Given the description of an element on the screen output the (x, y) to click on. 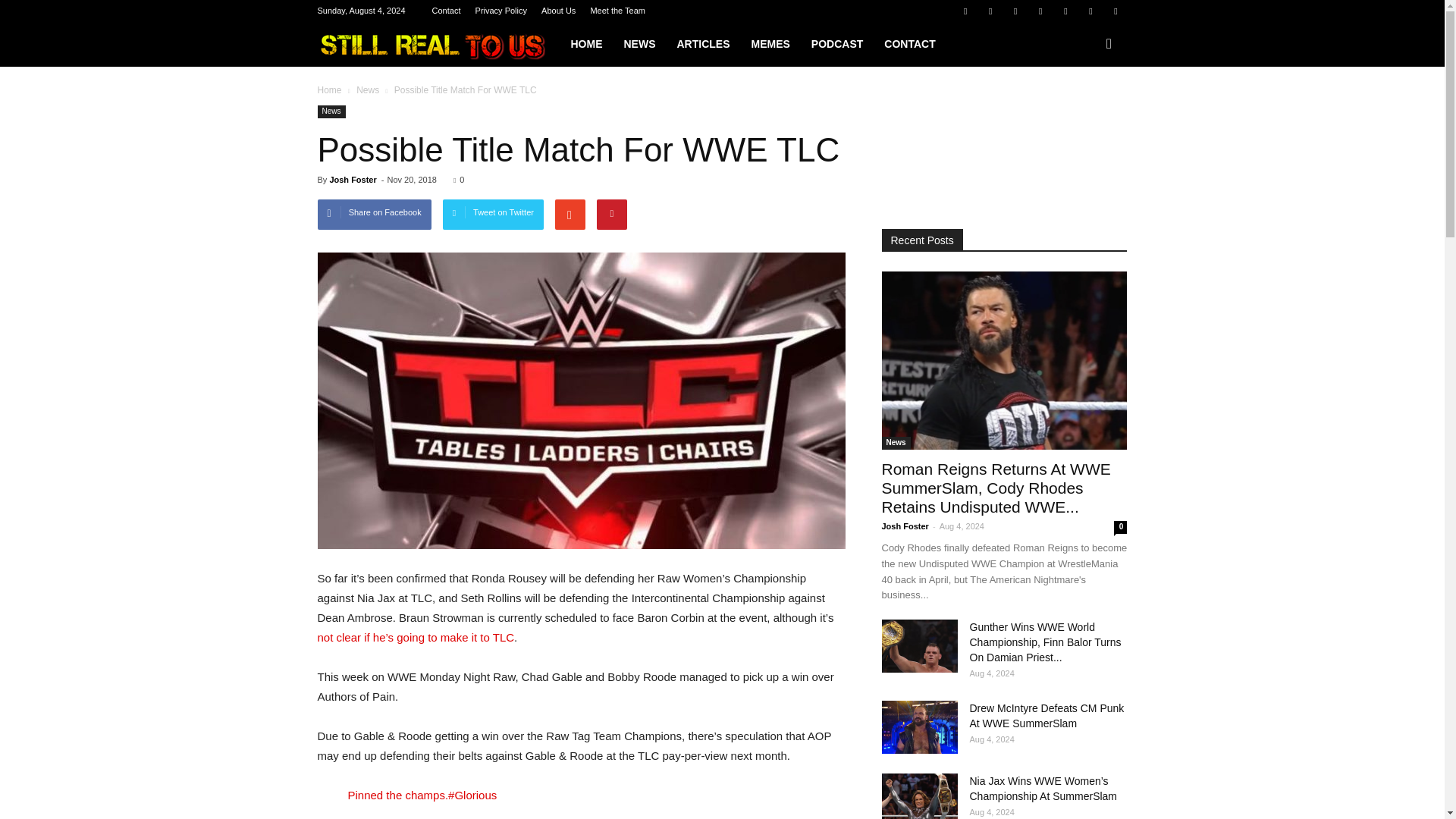
HOME (585, 43)
ARTICLES (702, 43)
MEMES (769, 43)
About Us (558, 10)
Pinterest (1040, 10)
Facebook (964, 10)
Contact (446, 10)
StillRealToUs.com (438, 43)
Meet the Team (617, 10)
Privacy Policy (501, 10)
Instagram (1015, 10)
CONTACT (908, 43)
Soundcloud (1065, 10)
NEWS (638, 43)
Twitter (1090, 10)
